Given the description of an element on the screen output the (x, y) to click on. 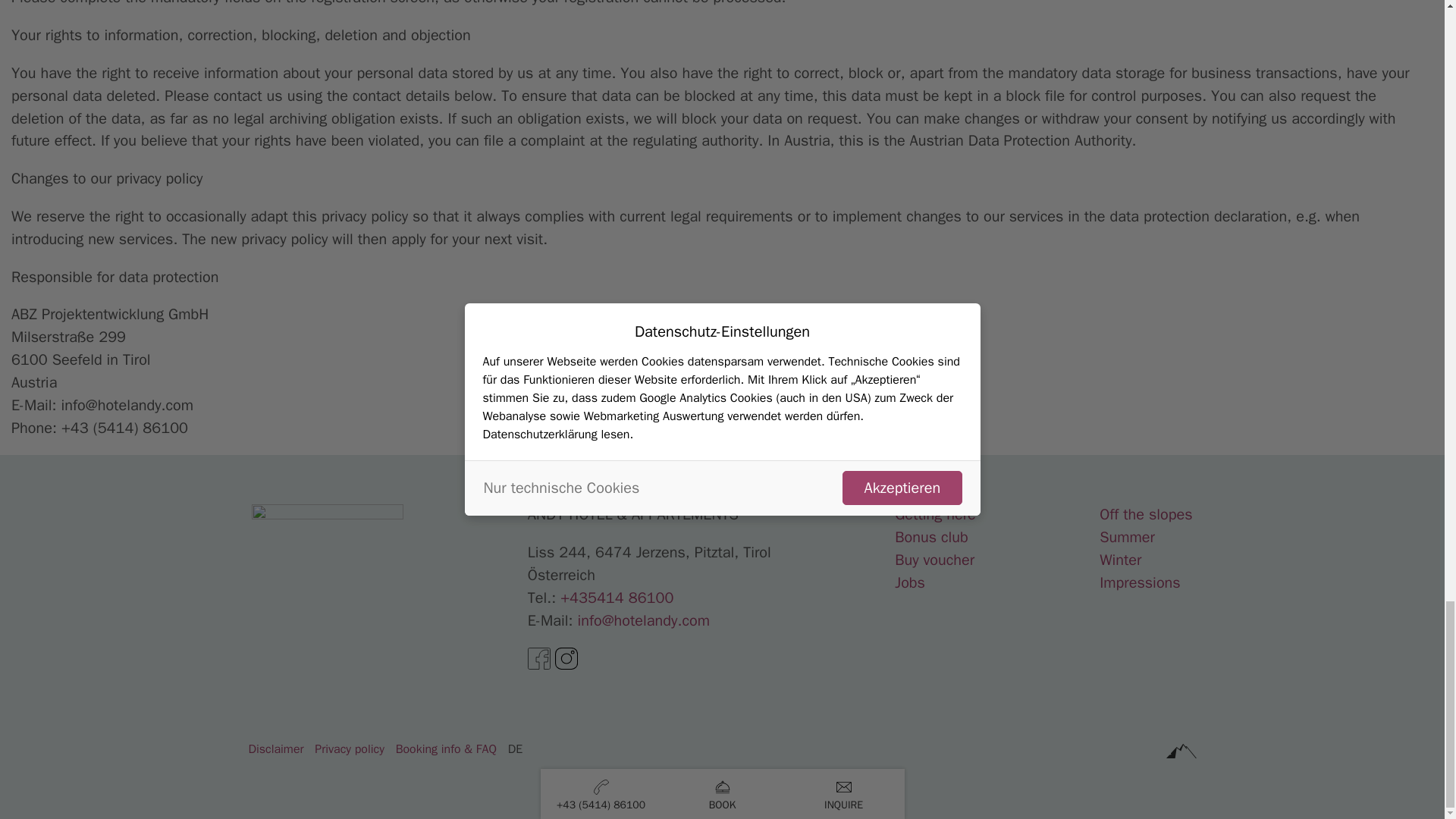
DE (515, 749)
Buy voucher (934, 559)
Jobs (909, 582)
Impressions (1139, 582)
Off the slopes (1145, 514)
Bonus club (931, 537)
Summer (1126, 537)
powered by Alpinmarketing (1181, 750)
Privacy policy (349, 749)
Winter (1120, 559)
Getting here (935, 514)
Disclaimer (274, 749)
